Given the description of an element on the screen output the (x, y) to click on. 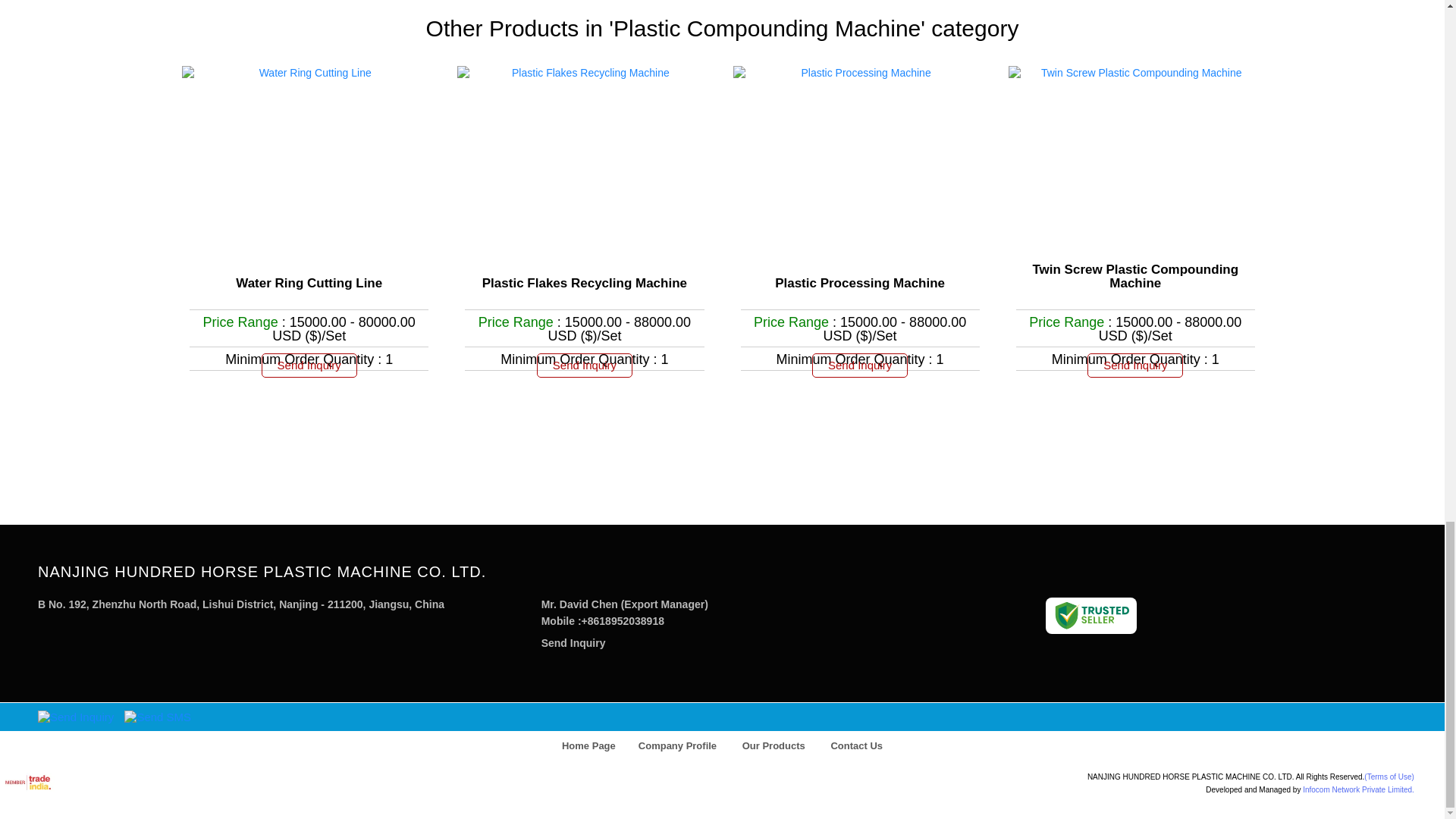
Send Inquiry (573, 643)
Send Inquiry (1134, 364)
Water Ring Cutting Line (308, 283)
Plastic Processing Machine (859, 283)
Twin Screw Plastic Compounding Machine (1135, 276)
Send Inquiry (584, 364)
Send Inquiry (859, 364)
Send Inquiry (309, 364)
Plastic Flakes Recycling Machine (584, 283)
